Given the description of an element on the screen output the (x, y) to click on. 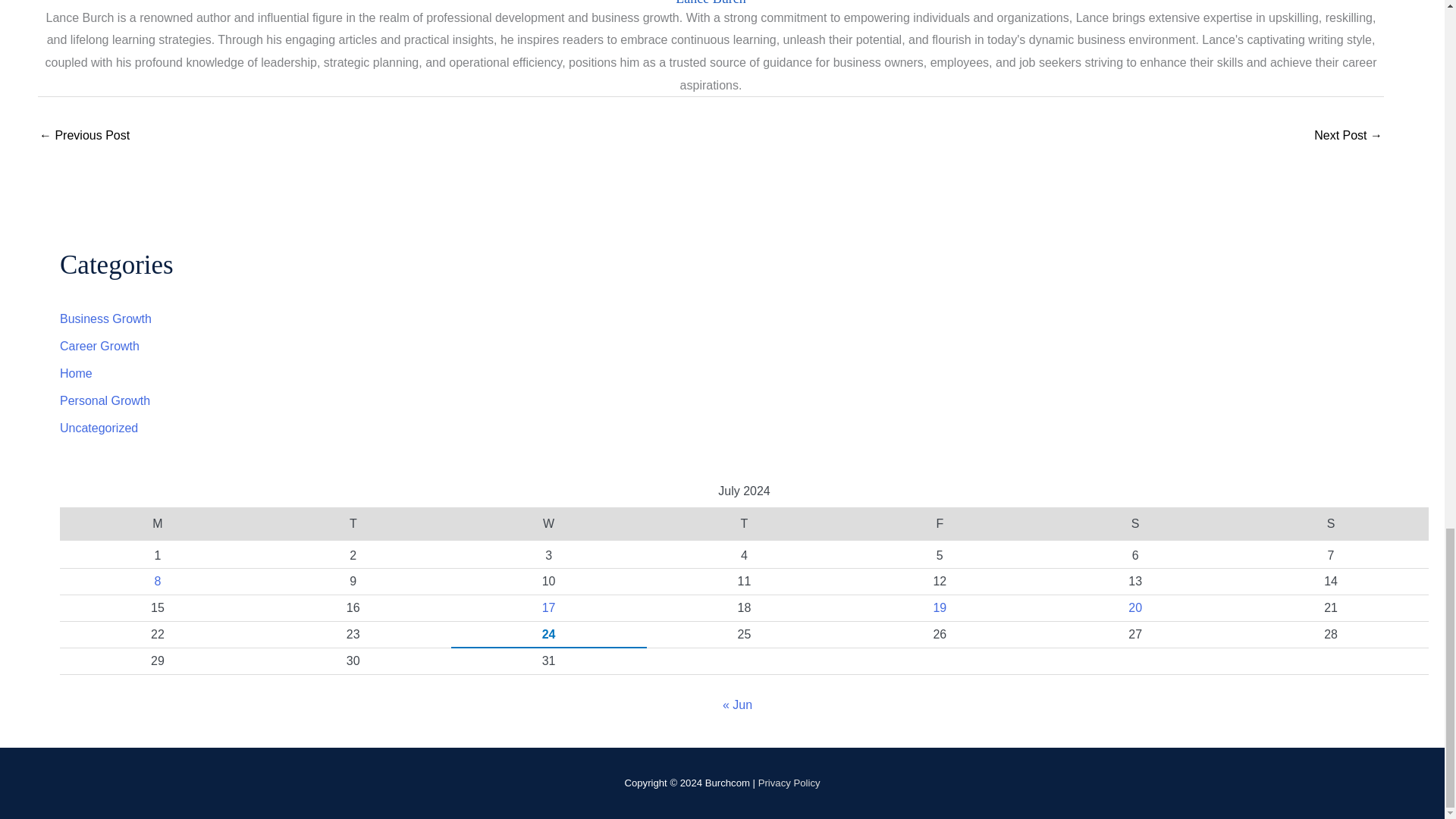
Lighting Fixtures in Learning Institutions (84, 136)
Privacy Policy (789, 782)
Tuesday (353, 523)
19 (939, 607)
Business Growth (105, 318)
Personal Growth (104, 400)
Wednesday (548, 523)
Monday (157, 523)
8 (157, 581)
Career Growth (99, 345)
Uncategorized (98, 427)
Thursday (744, 523)
20 (1134, 607)
Friday (938, 523)
Sunday (1330, 523)
